Given the description of an element on the screen output the (x, y) to click on. 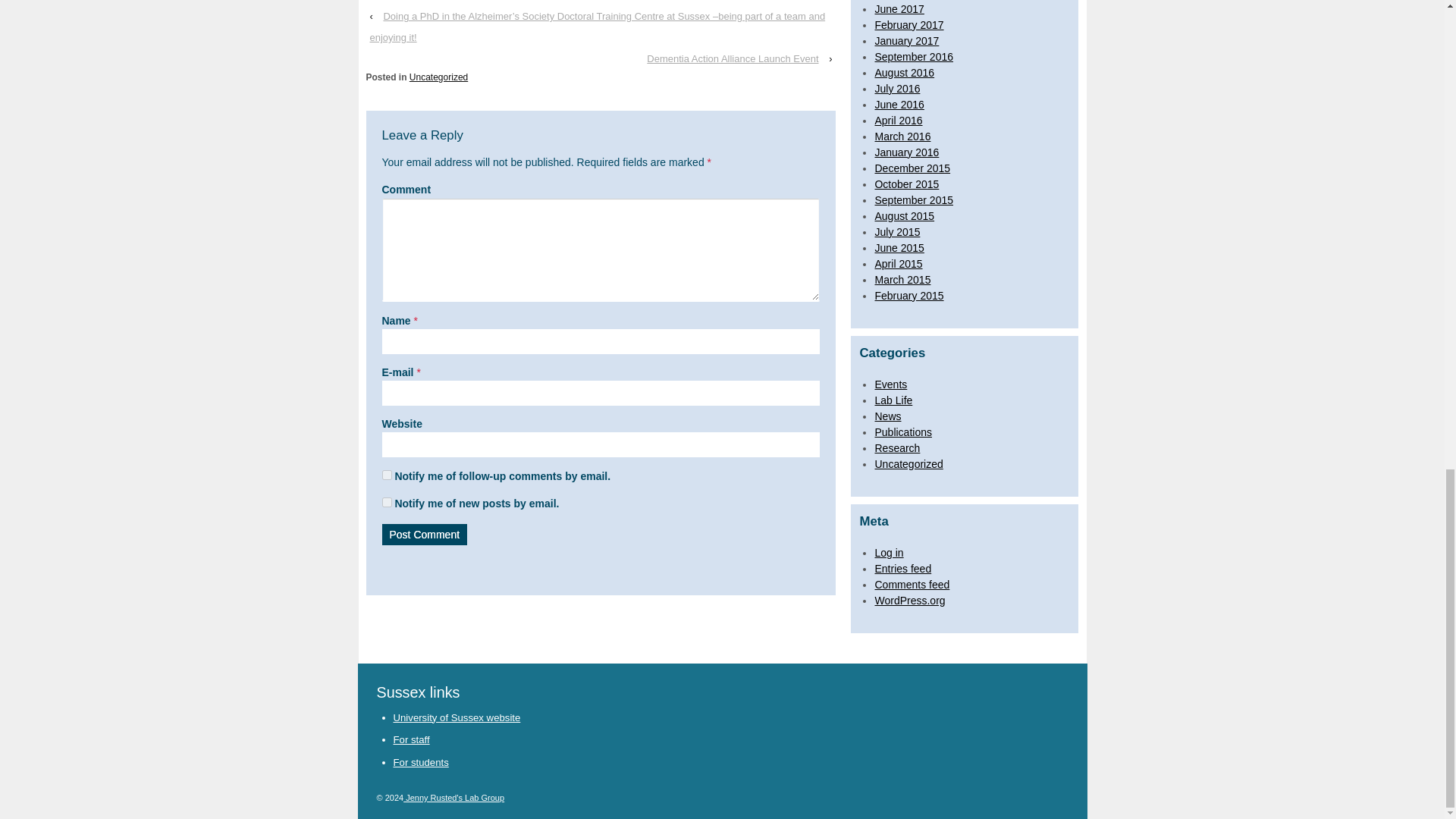
August 2016 (904, 72)
June 2016 (899, 104)
Dementia Action Alliance Launch Event (732, 58)
Post Comment (424, 534)
Jenny Rusted's Lab Group (453, 797)
February 2017 (909, 24)
January 2017 (907, 40)
Uncategorized (438, 77)
June 2017 (899, 9)
September 2016 (914, 55)
subscribe (386, 474)
July 2016 (897, 87)
subscribe (386, 501)
Post Comment (424, 534)
